Given the description of an element on the screen output the (x, y) to click on. 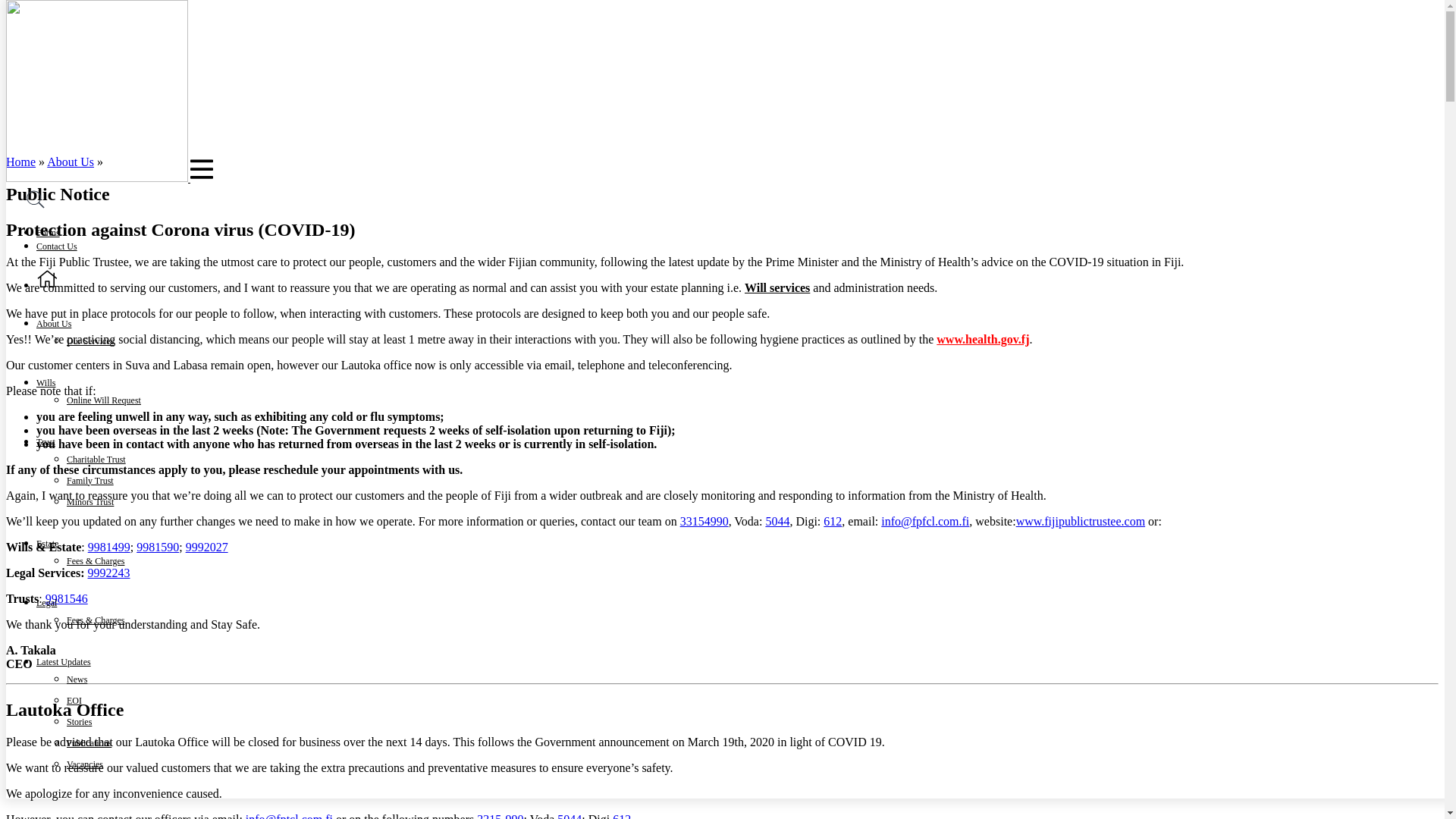
9992027 (207, 546)
33154990 (704, 521)
5044 (568, 816)
Latest Updates (63, 661)
www.health.gov.fj (982, 338)
9981546 (66, 598)
9992243 (109, 572)
9981590 (157, 546)
5044 (777, 521)
Family Trust (89, 480)
612 (621, 816)
Our Services (89, 341)
9981499 (109, 546)
Publications (89, 742)
Online Will Request (103, 400)
